Given the description of an element on the screen output the (x, y) to click on. 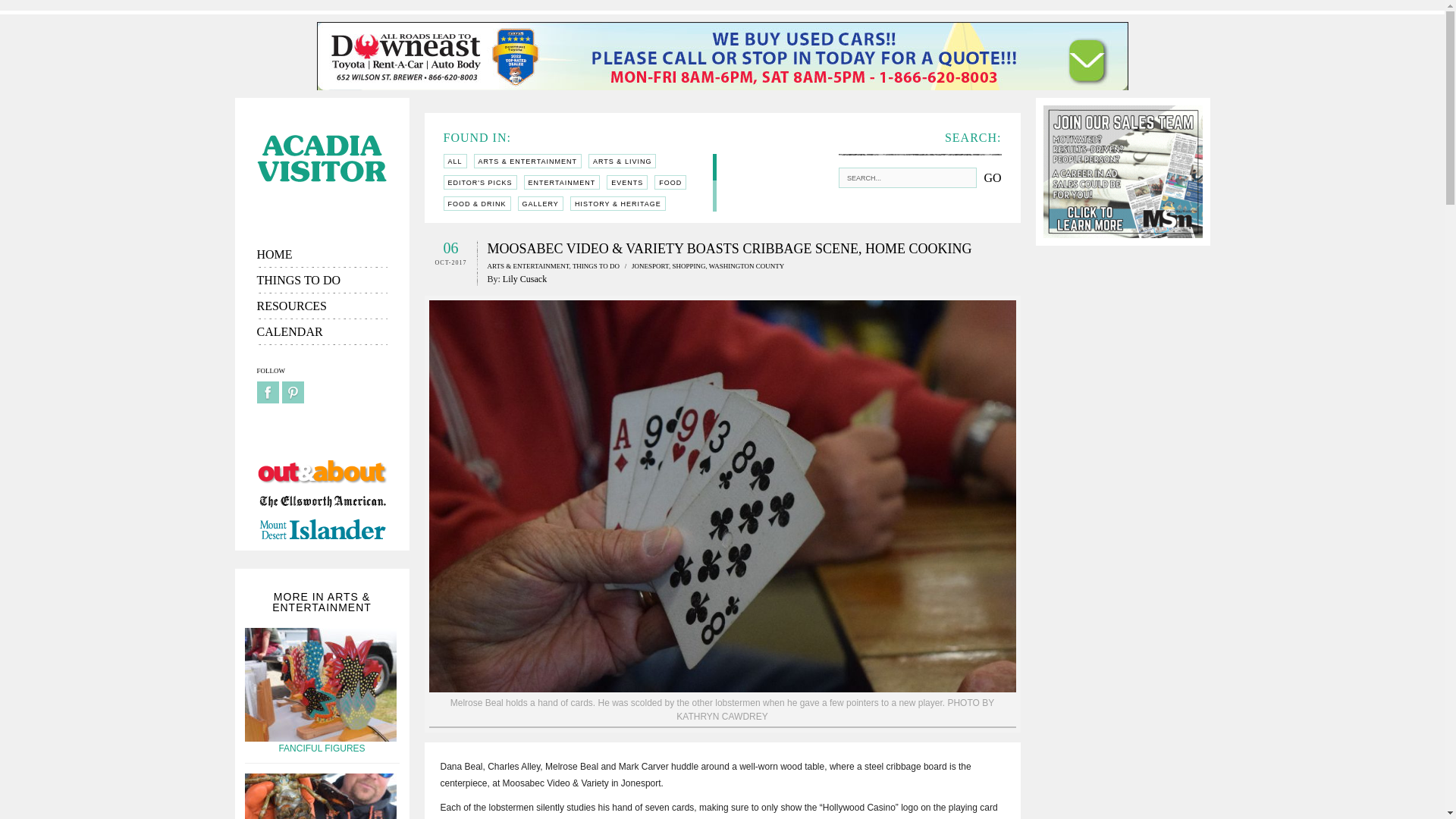
GALLERY (540, 203)
EDITOR'S PICKS (479, 182)
FOOD (669, 182)
HOME (321, 254)
Help Wanted: Ad Sales 300x250 (1122, 171)
ALL (453, 160)
Pinterest (293, 392)
THINGS TO DO (321, 280)
ENTERTAINMENT (561, 182)
Go (992, 177)
FANCIFUL FIGURES (321, 747)
RESOURCES (321, 306)
CALENDAR (321, 331)
Facebook (267, 392)
EVENTS (627, 182)
